Given the description of an element on the screen output the (x, y) to click on. 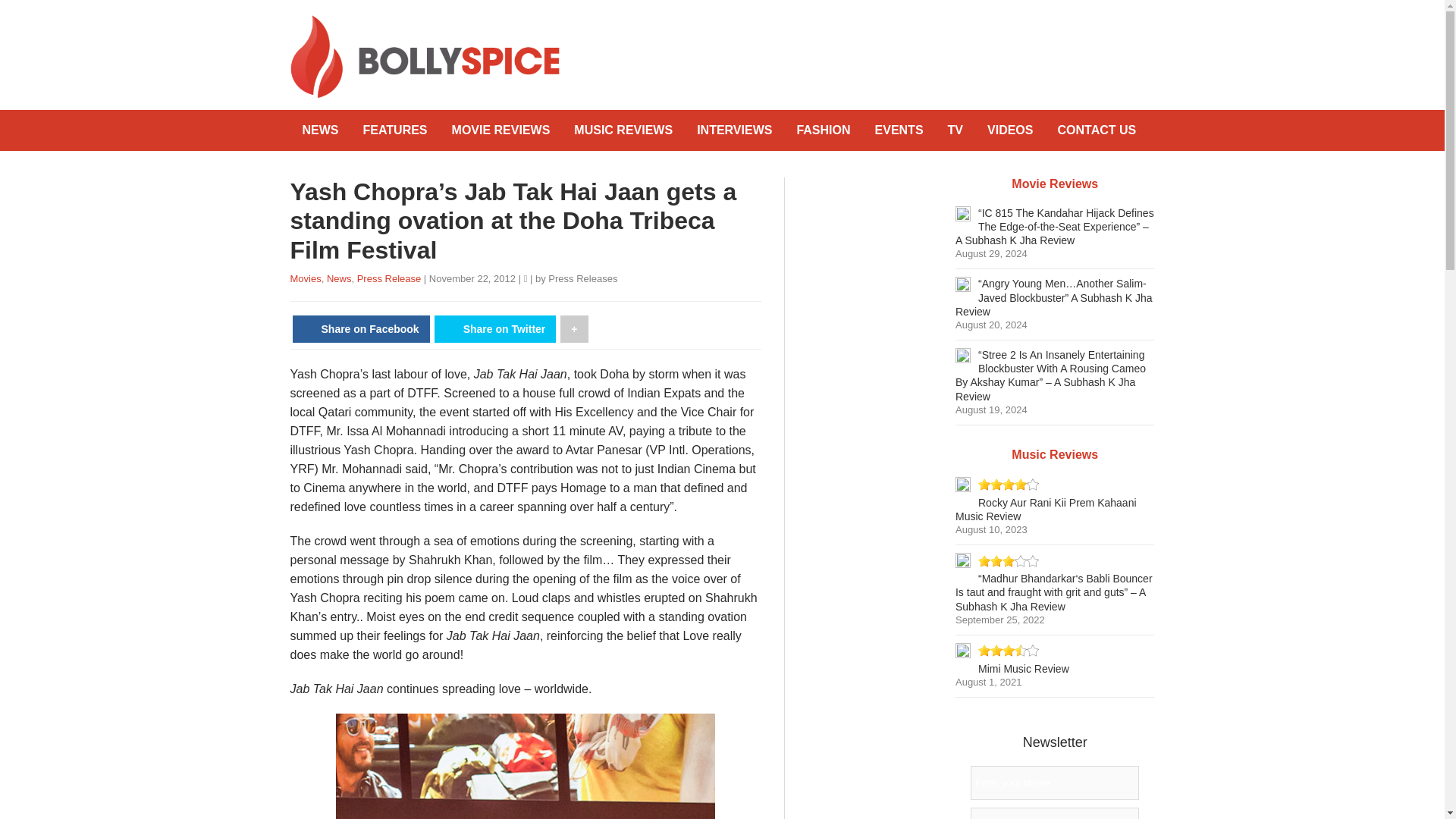
News (339, 278)
CONTACT US (1096, 130)
Press Release (389, 278)
MUSIC REVIEWS (623, 130)
MOVIE REVIEWS (500, 130)
EVENTS (899, 130)
FASHION (822, 130)
Rocky Aur Rani Kii Prem Kahaani Music Review (1046, 509)
August 10, 2023 (991, 529)
September 25, 2022 (1000, 619)
